Given the description of an element on the screen output the (x, y) to click on. 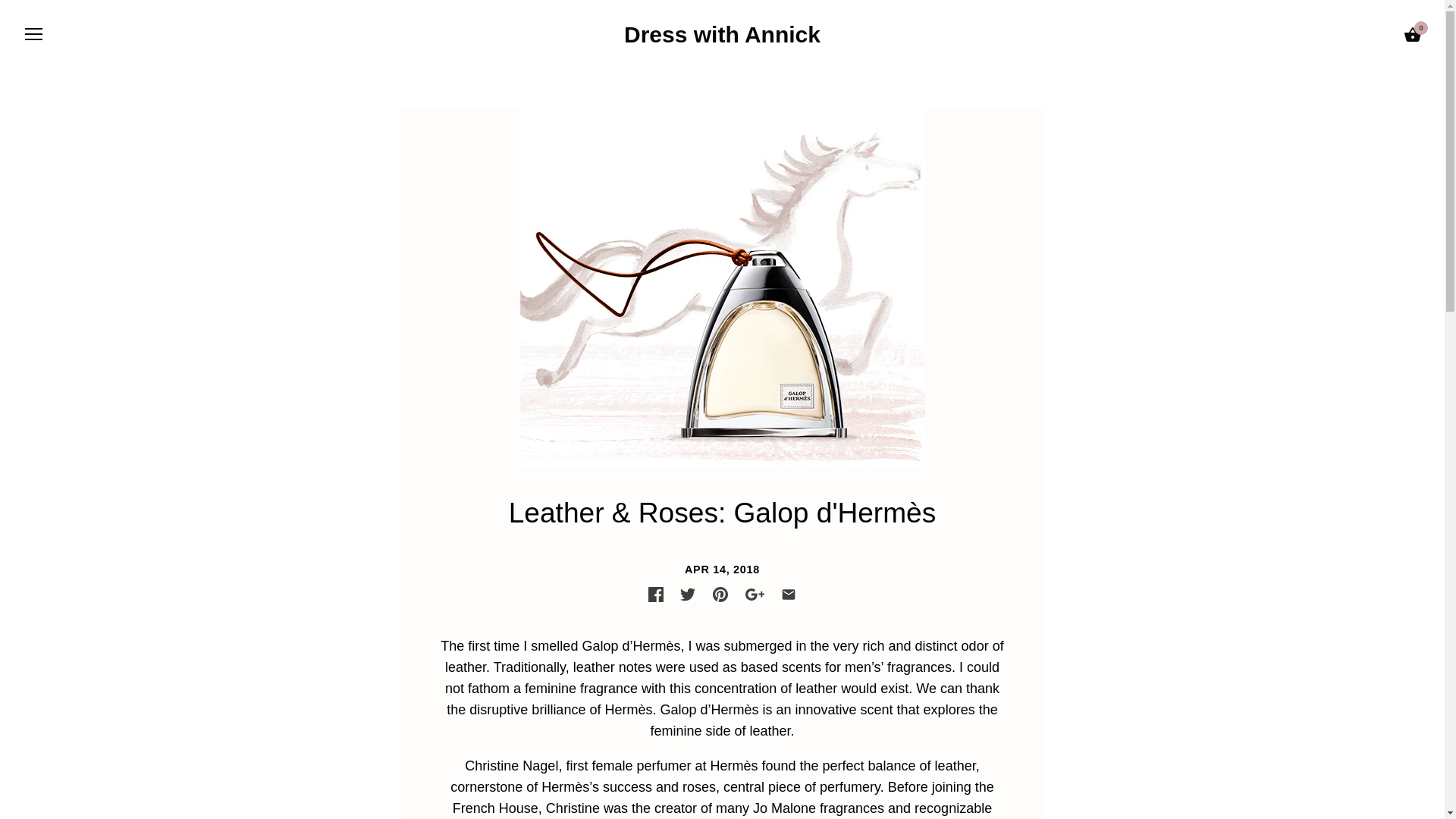
FACEBOOK (655, 594)
FACEBOOK (655, 594)
EMAIL (788, 594)
PINTEREST (720, 594)
Share on Twitter (687, 594)
Dress with Annick (722, 34)
GOOGLEPLUS (754, 594)
EMAIL (788, 594)
Cart (1412, 34)
TWITTER (687, 594)
Share on Facebook (655, 594)
TWITTER (687, 594)
Email this product to somebody (788, 594)
Pin the main image (720, 594)
GOOGLEPLUS (754, 594)
